Given the description of an element on the screen output the (x, y) to click on. 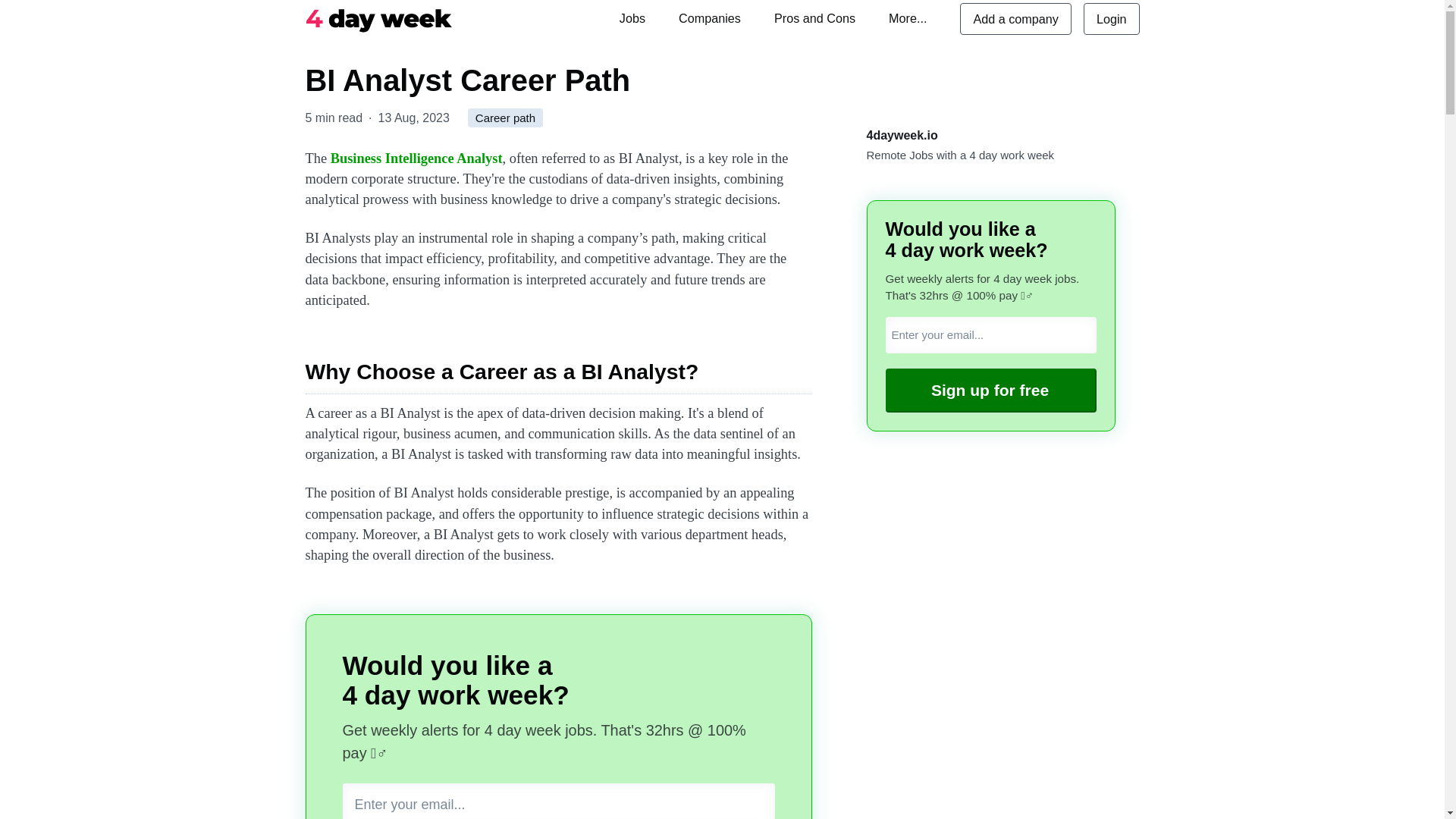
More... (907, 18)
Jobs (632, 18)
Companies (709, 18)
Pros and Cons (814, 18)
